Given the description of an element on the screen output the (x, y) to click on. 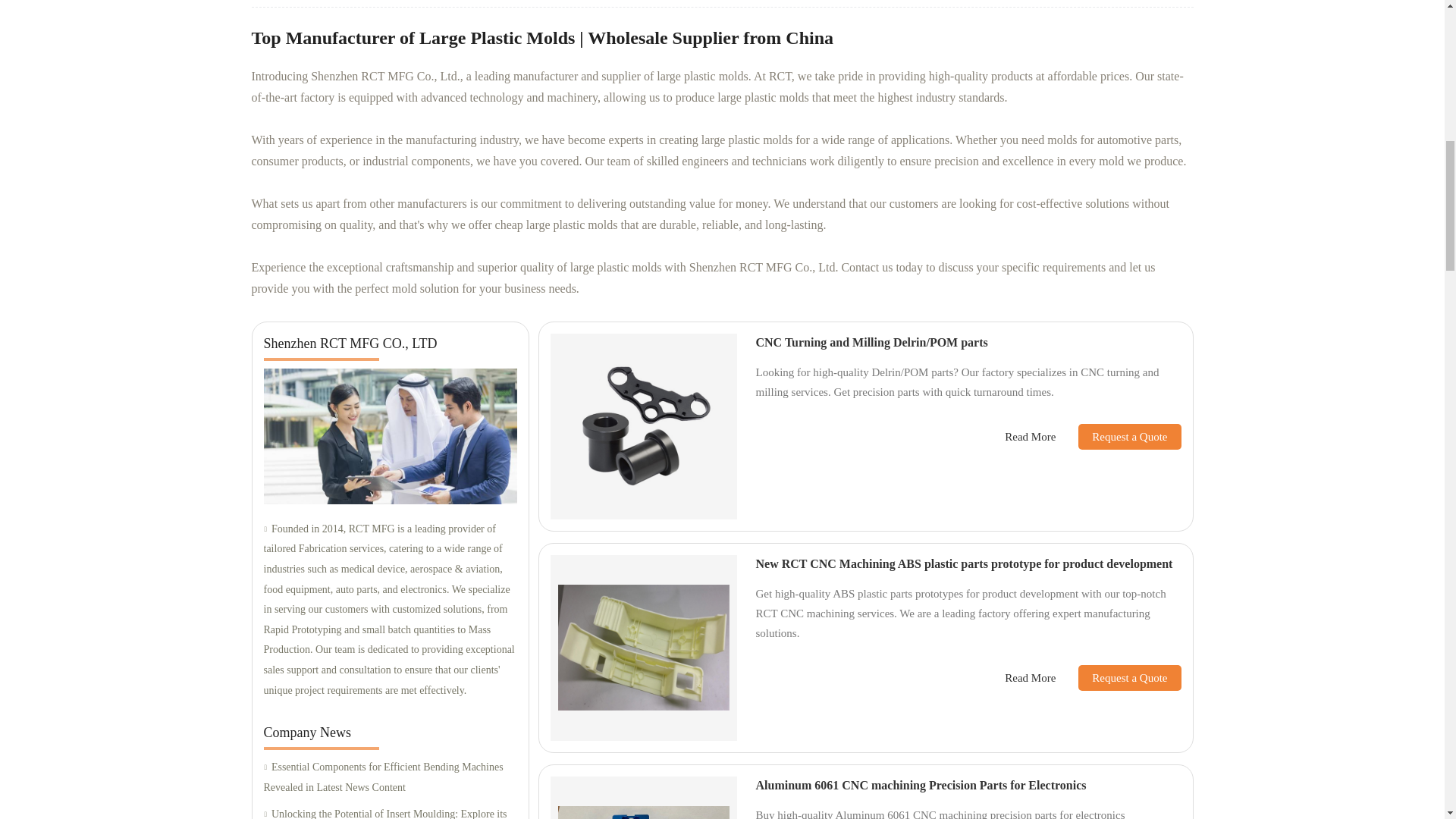
Request a Quote (1117, 436)
Read More (1029, 678)
Read More (1029, 436)
Request a Quote (1117, 678)
